Given the description of an element on the screen output the (x, y) to click on. 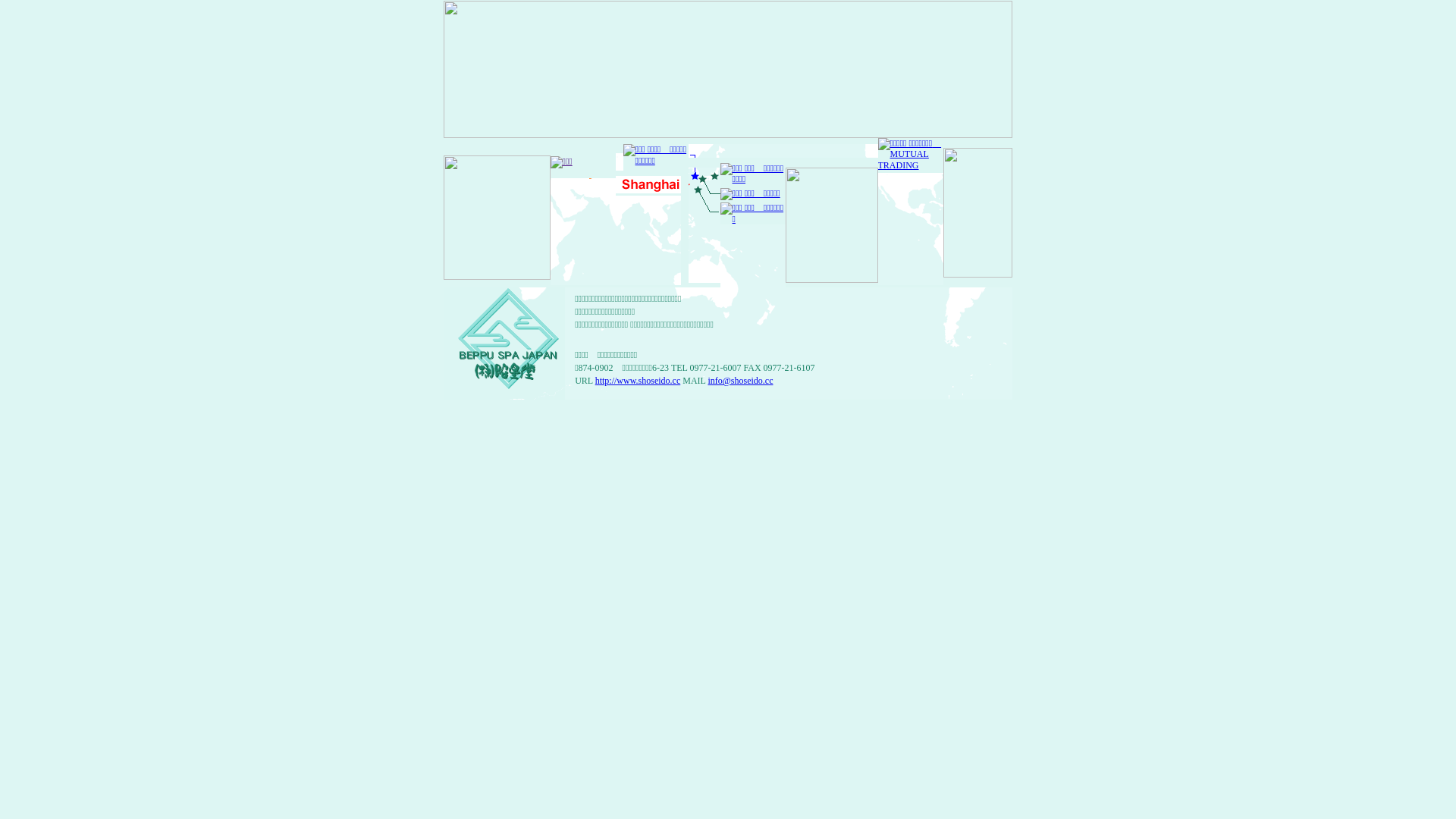
info@shoseido.cc Element type: text (739, 380)
http://www.shoseido.cc Element type: text (637, 380)
